Given the description of an element on the screen output the (x, y) to click on. 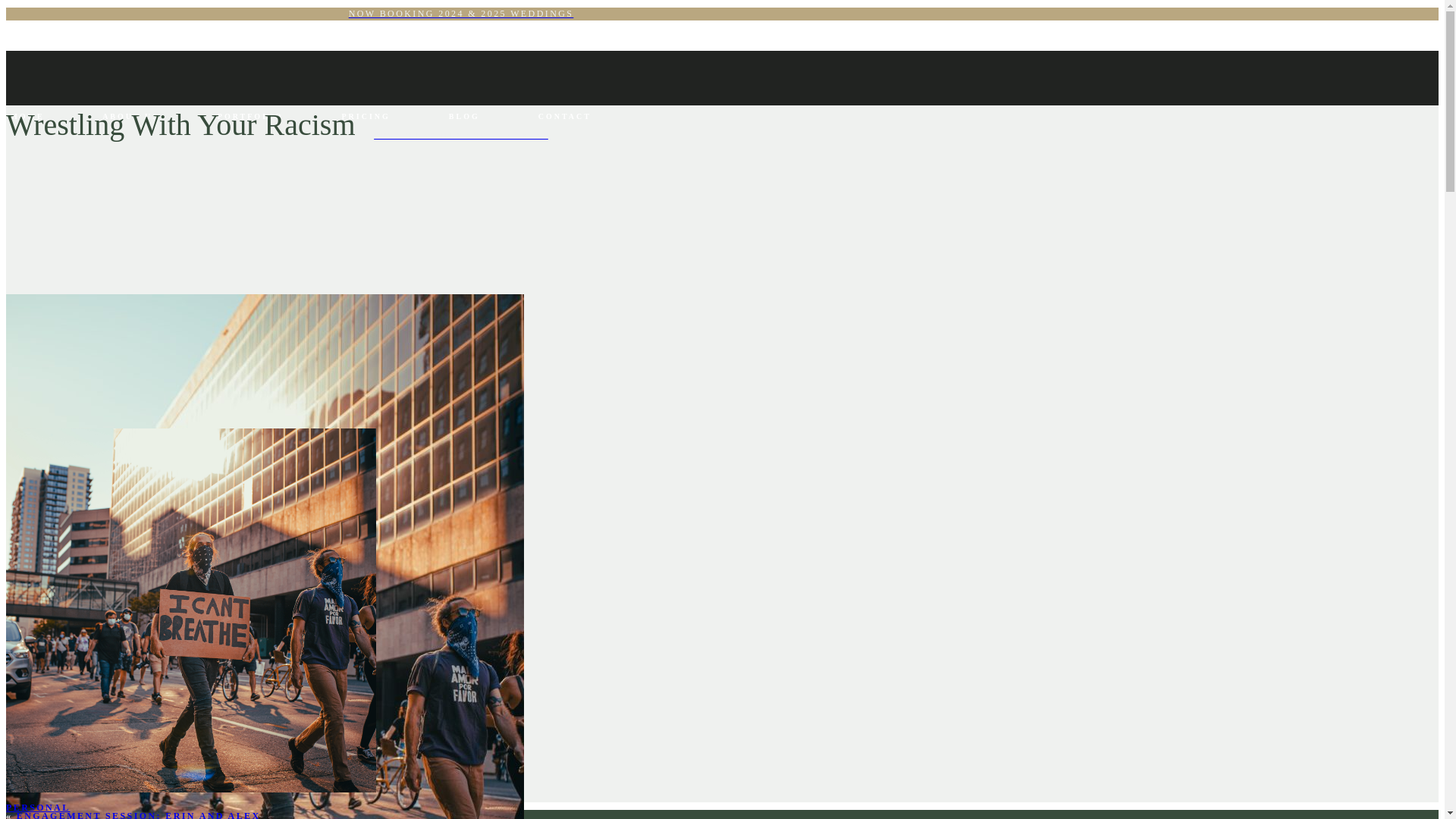
ENGAGEMENT SESSION: ERIN AND ALEX (138, 814)
PRICING (365, 116)
CONTACT (564, 116)
HOME (28, 116)
PORTFOLIO (249, 116)
PHOTOGRAPHERS YOU CAN TRUST (460, 135)
BLOG (464, 116)
PERSONAL (37, 807)
ABOUT US  (132, 116)
